Given the description of an element on the screen output the (x, y) to click on. 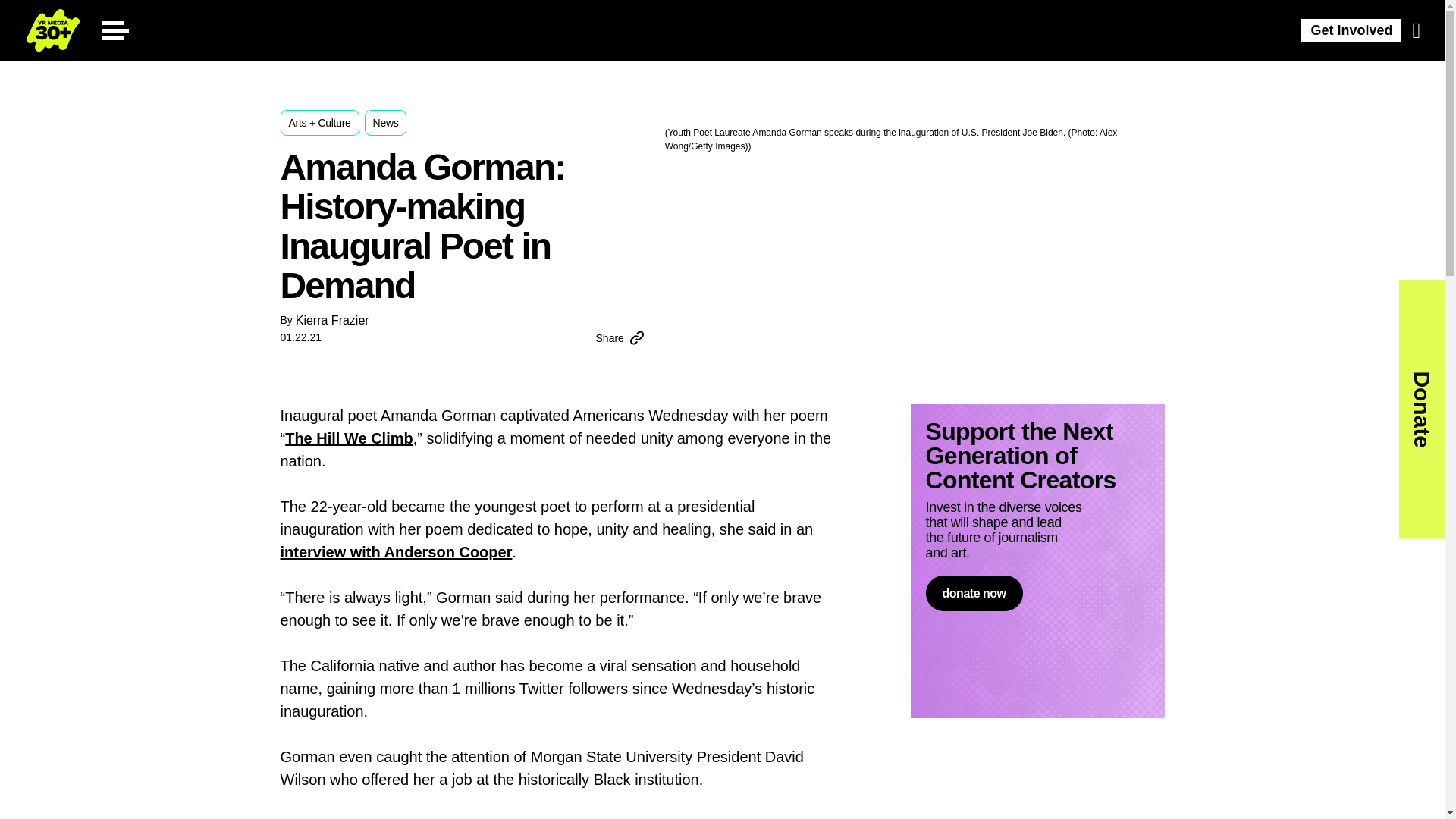
News (386, 122)
Kierra Frazier (332, 319)
Get Involved (1350, 30)
The Hill We Climb (349, 437)
interview with Anderson Cooper (396, 551)
